Given the description of an element on the screen output the (x, y) to click on. 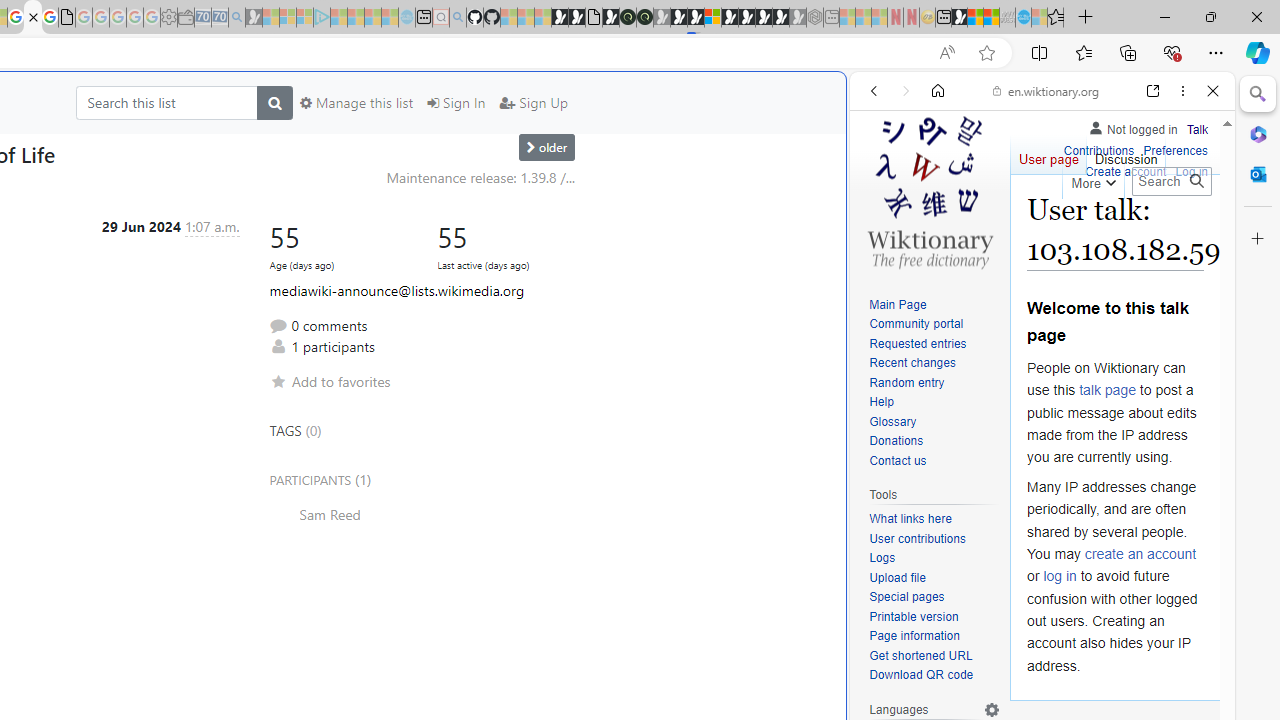
Contributions (1098, 151)
Create account (1125, 169)
Discussion (1125, 154)
Talk (1197, 126)
